Given the description of an element on the screen output the (x, y) to click on. 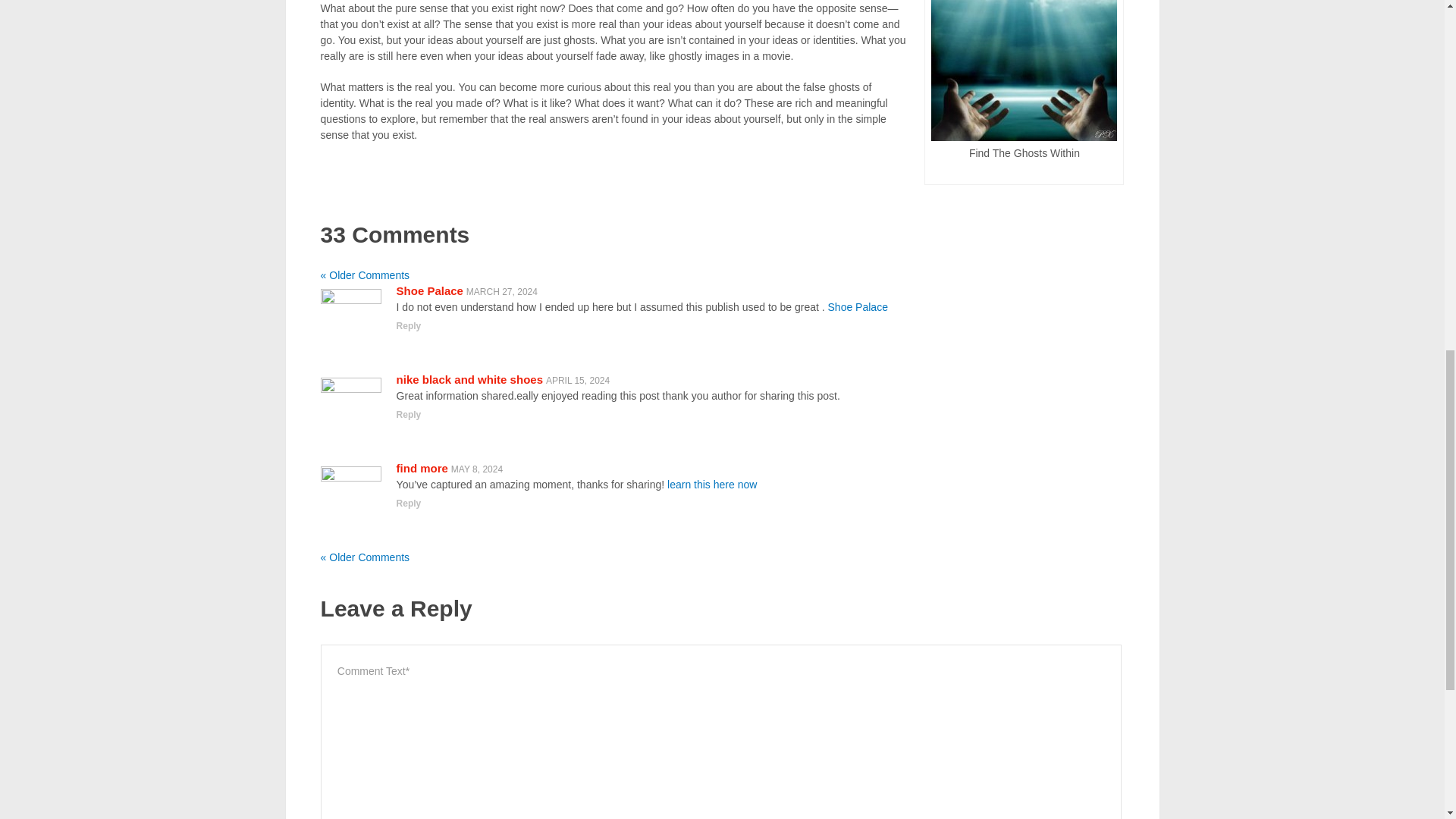
Reply (409, 325)
nike black and white shoes (469, 379)
Shoe Palace (429, 290)
Shoe Palace (858, 306)
